Given the description of an element on the screen output the (x, y) to click on. 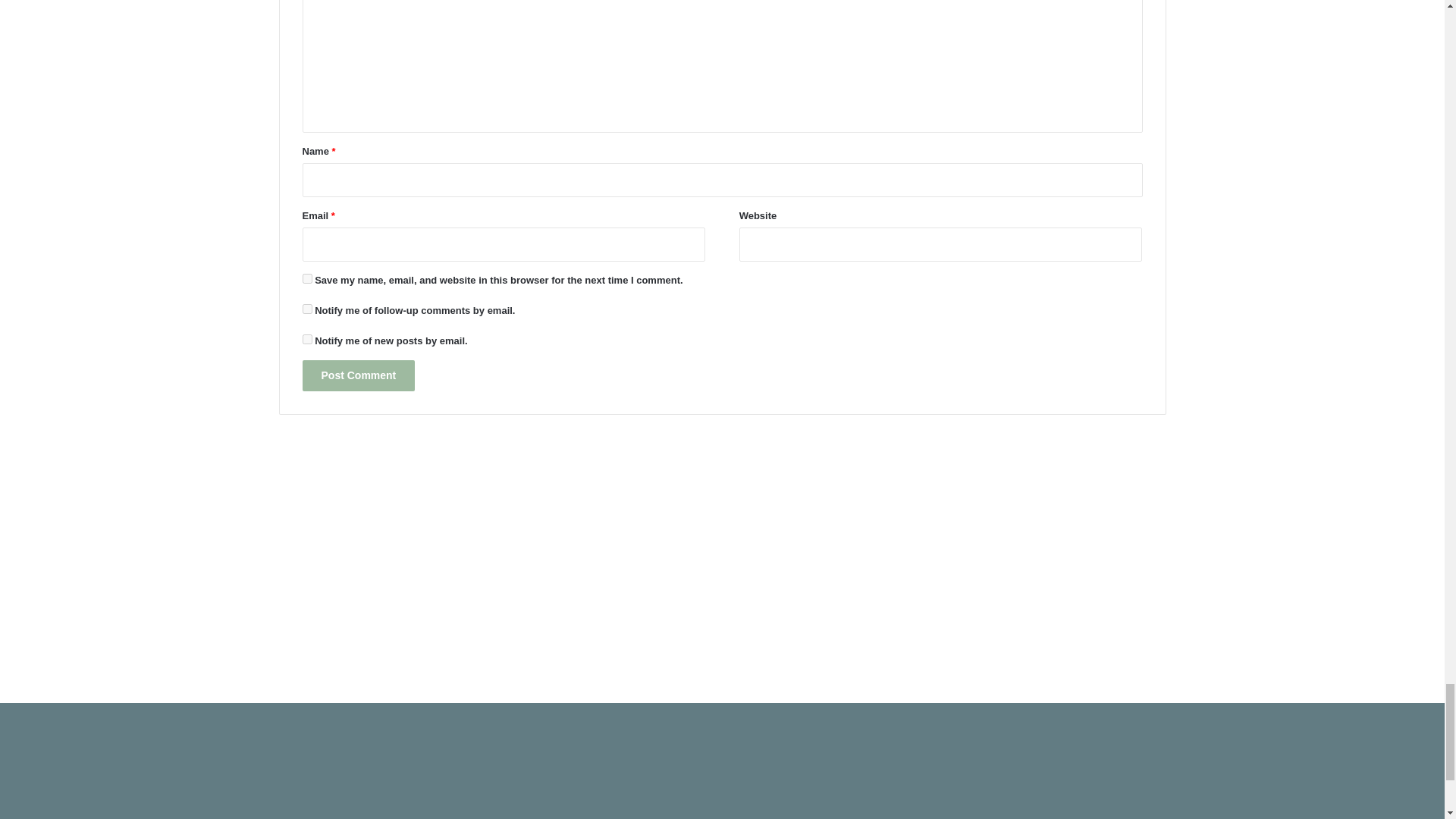
Post Comment (357, 375)
yes (306, 278)
subscribe (306, 308)
subscribe (306, 338)
